Given the description of an element on the screen output the (x, y) to click on. 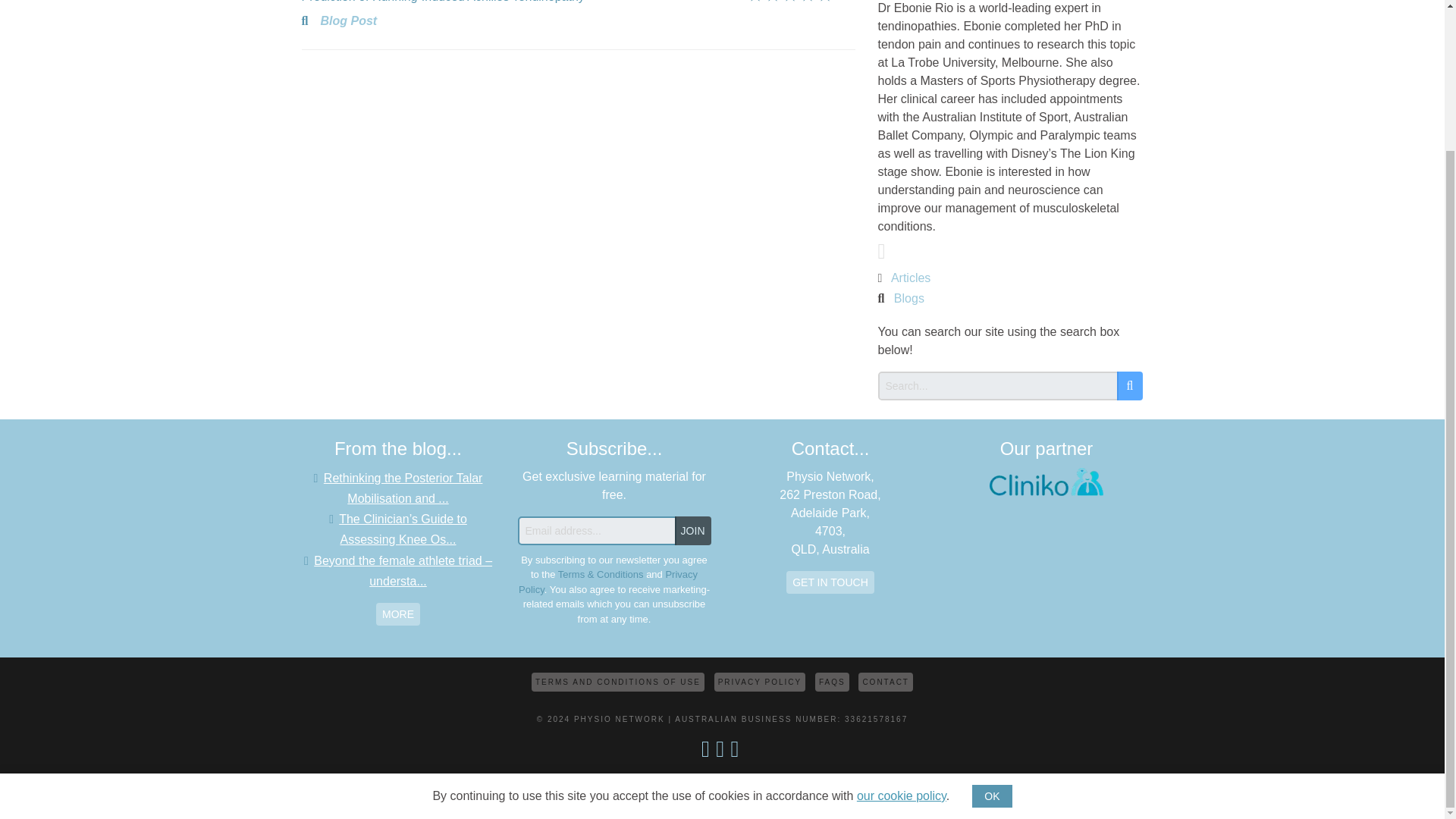
Articles (910, 277)
Blogs (908, 297)
Prediction of Running-Induced Achilles Tendinopathy (522, 2)
